Given the description of an element on the screen output the (x, y) to click on. 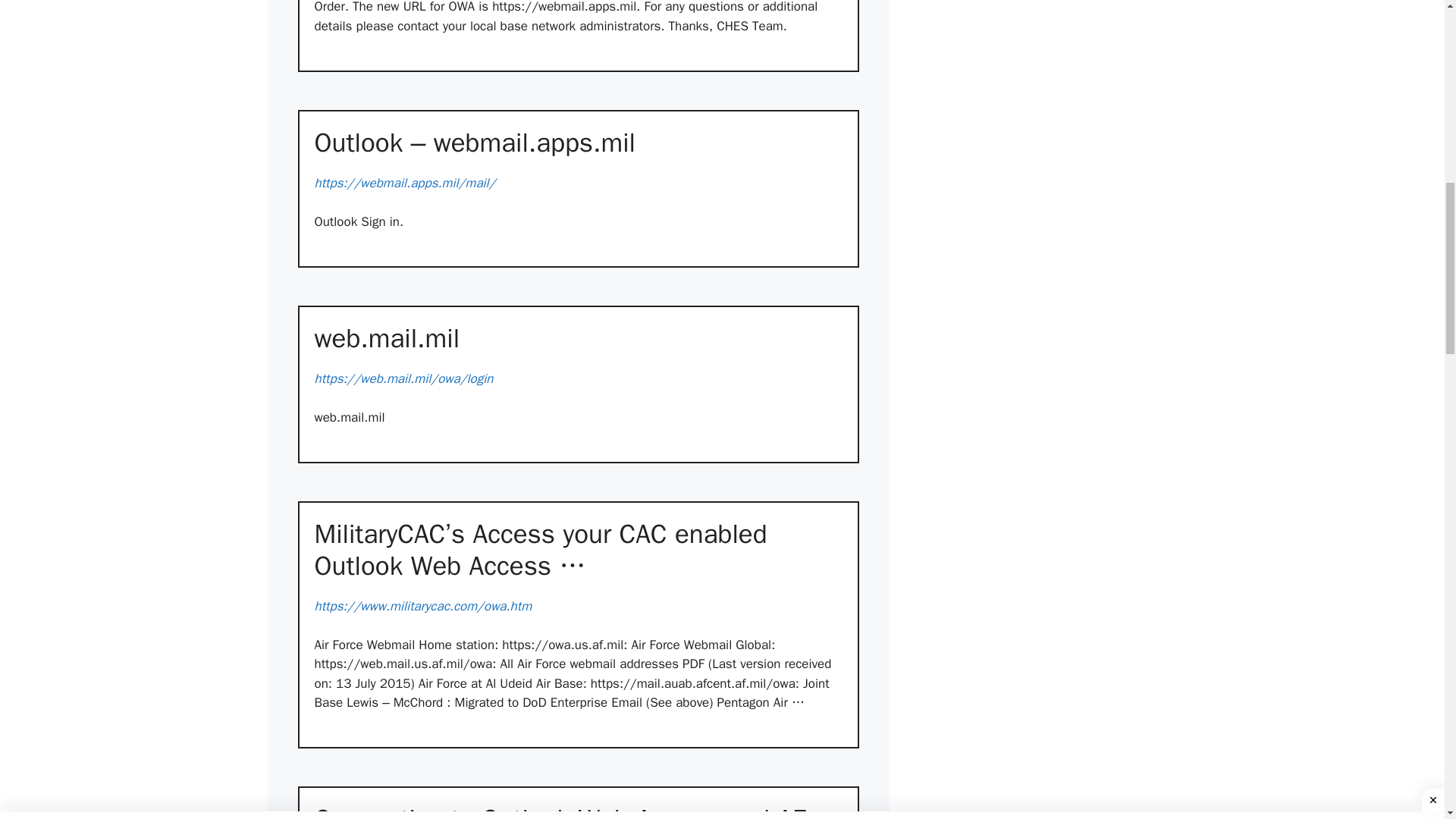
Outlook - webmail.apps.mil (577, 142)
